Given the description of an element on the screen output the (x, y) to click on. 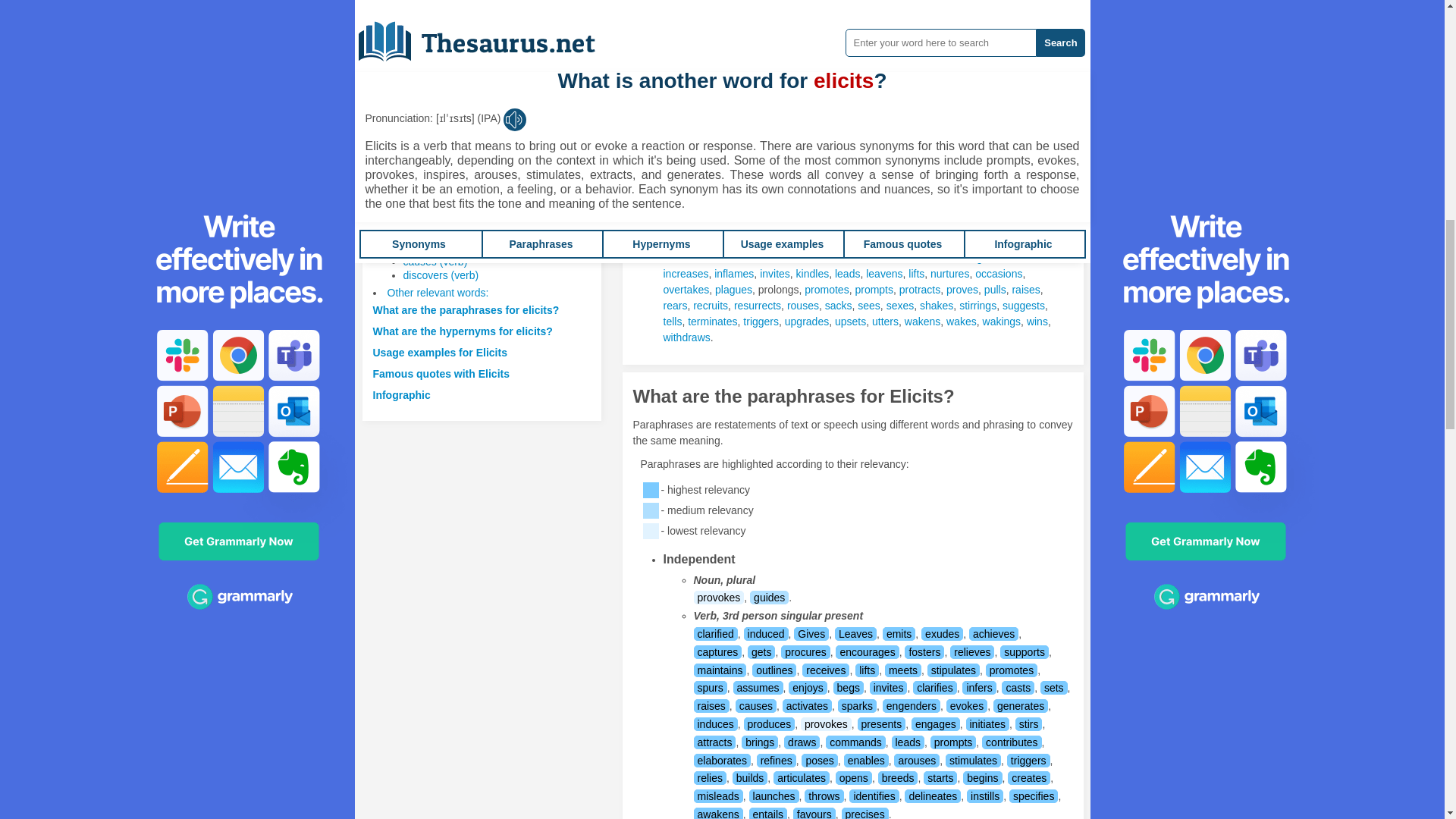
engenders (937, 3)
Synonyms for Elicits (827, 16)
Other relevant words: (437, 292)
Synonyms for Elicits (786, 32)
Synonyms for Elicits (679, 79)
originates (685, 32)
What are the paraphrases for elicits? (465, 309)
What are the hypernyms for elicits? (462, 331)
acts (708, 3)
Synonyms for Elicits (1037, 3)
induces (879, 16)
inspires (922, 16)
Synonyms for Elicits (708, 3)
Synonyms for Elicits (1006, 16)
causes (805, 3)
